Given the description of an element on the screen output the (x, y) to click on. 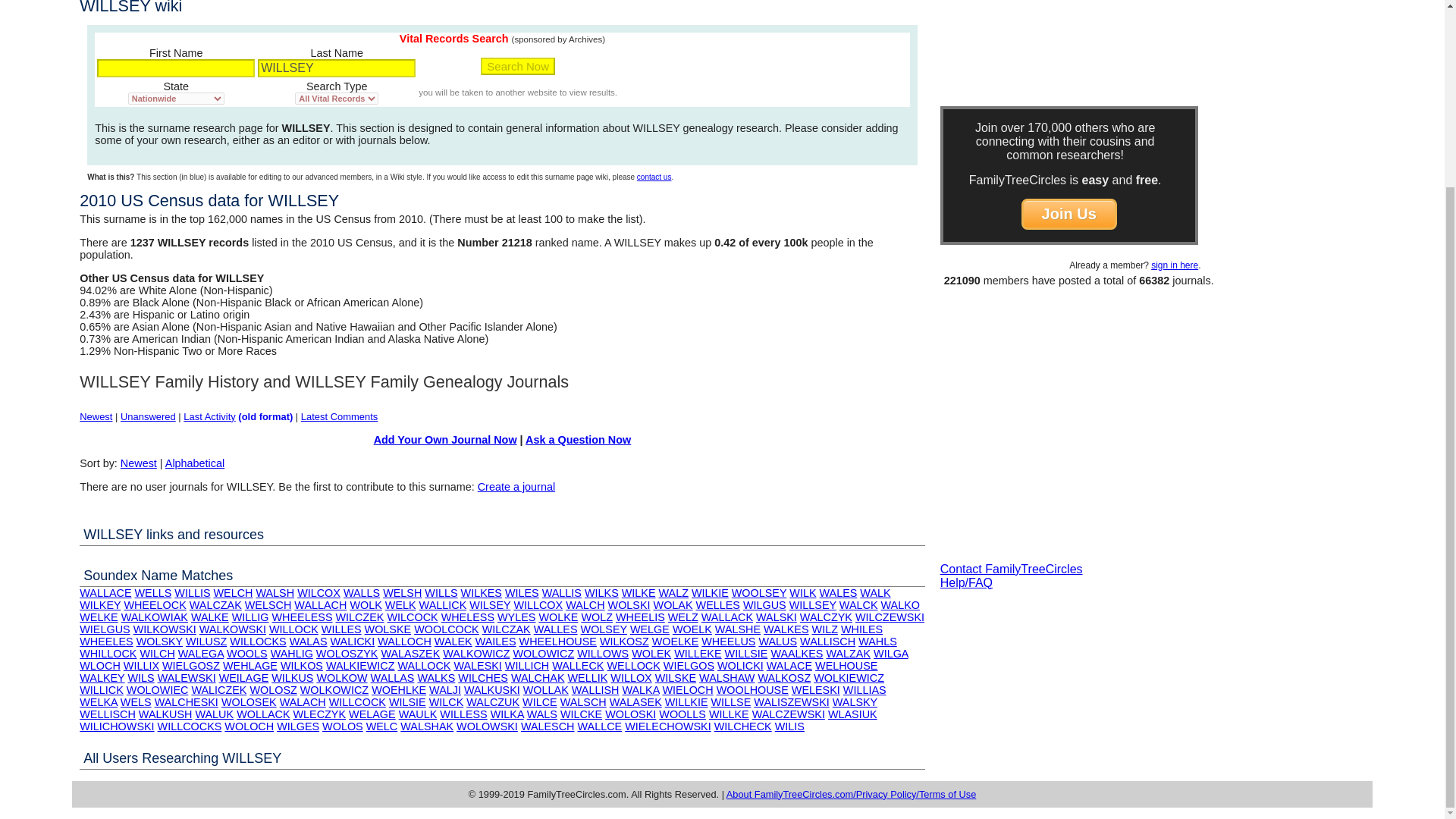
Add Your Own Journal Now (445, 439)
WELCH (231, 592)
contact us (654, 176)
Search Now (517, 66)
Alphabetical (194, 463)
WALLACE (105, 592)
WELLS (153, 592)
WALSH (275, 592)
Create a journal (515, 486)
WILCOX (318, 592)
